Given the description of an element on the screen output the (x, y) to click on. 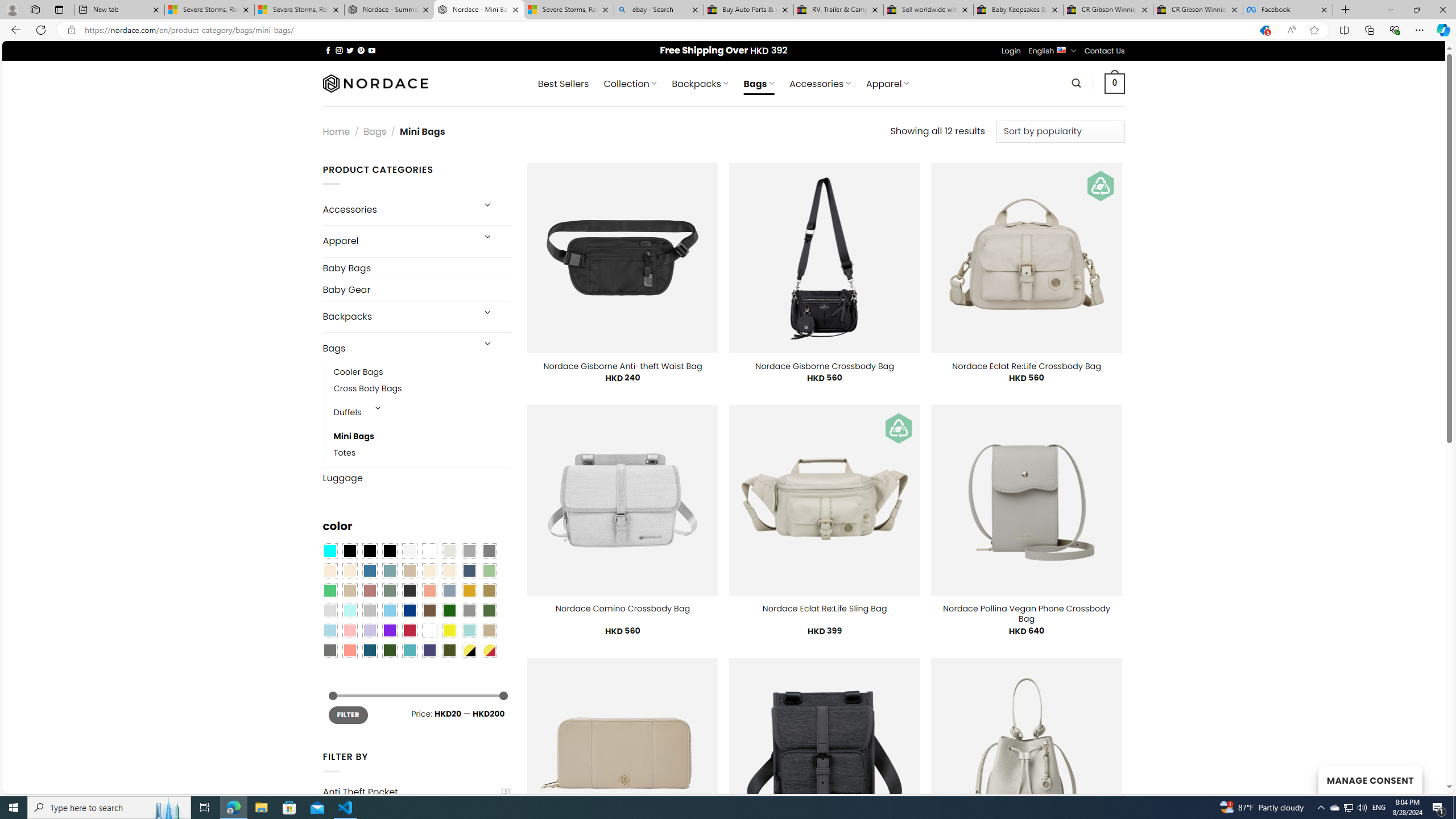
Capri Blue (369, 649)
Facebook (1287, 9)
Address and search bar (664, 29)
Baby Bags (416, 267)
Follow on Instagram (338, 49)
Apparel (397, 241)
Nordace Pollina Vegan Phone Crossbody Bag (1026, 613)
Follow on YouTube (371, 49)
Cooler Bags (422, 371)
Sage (389, 590)
White (429, 630)
Nordace - Summer Adventures 2024 (389, 9)
